Given the description of an element on the screen output the (x, y) to click on. 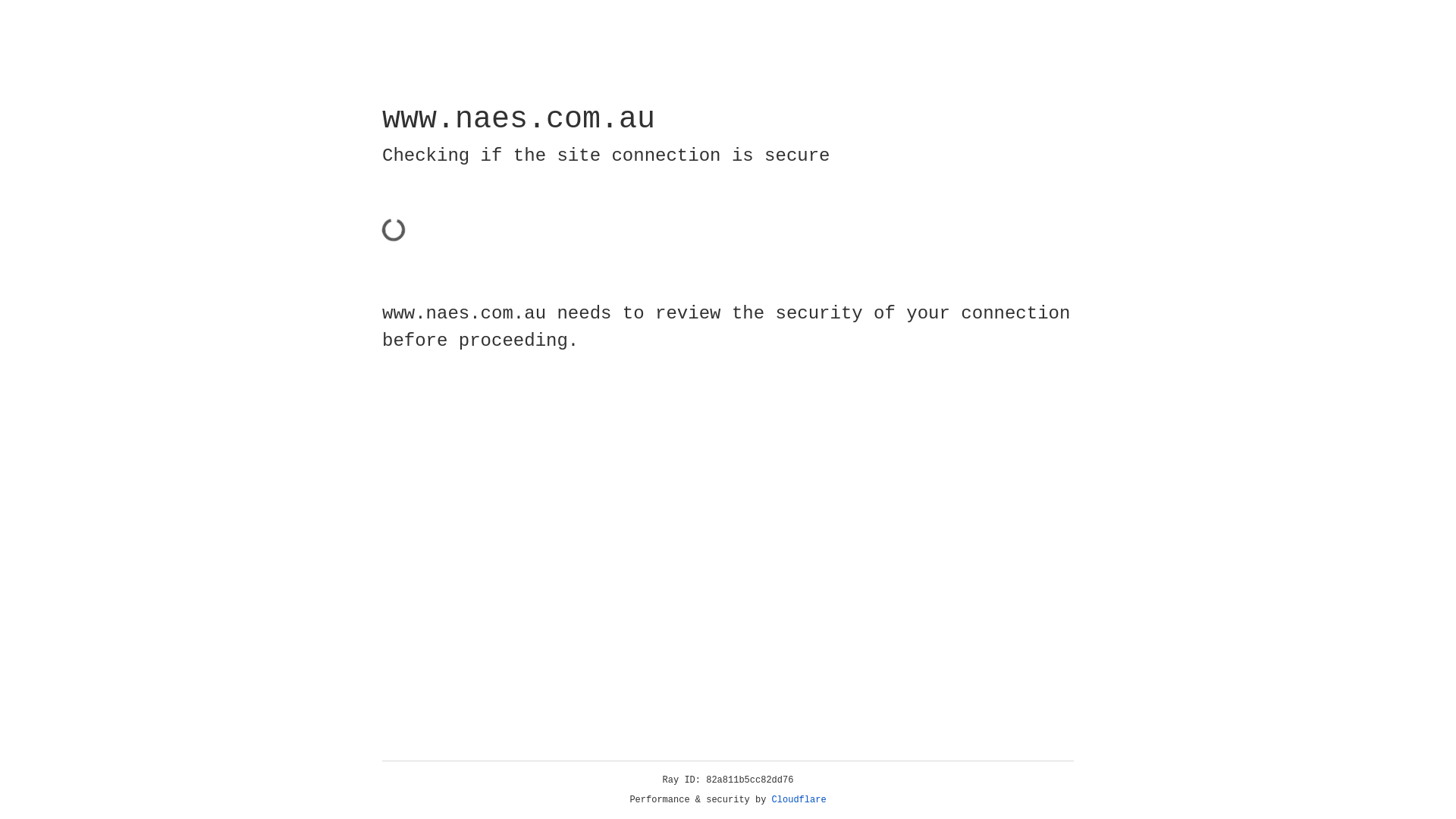
Cloudflare Element type: text (798, 799)
